Given the description of an element on the screen output the (x, y) to click on. 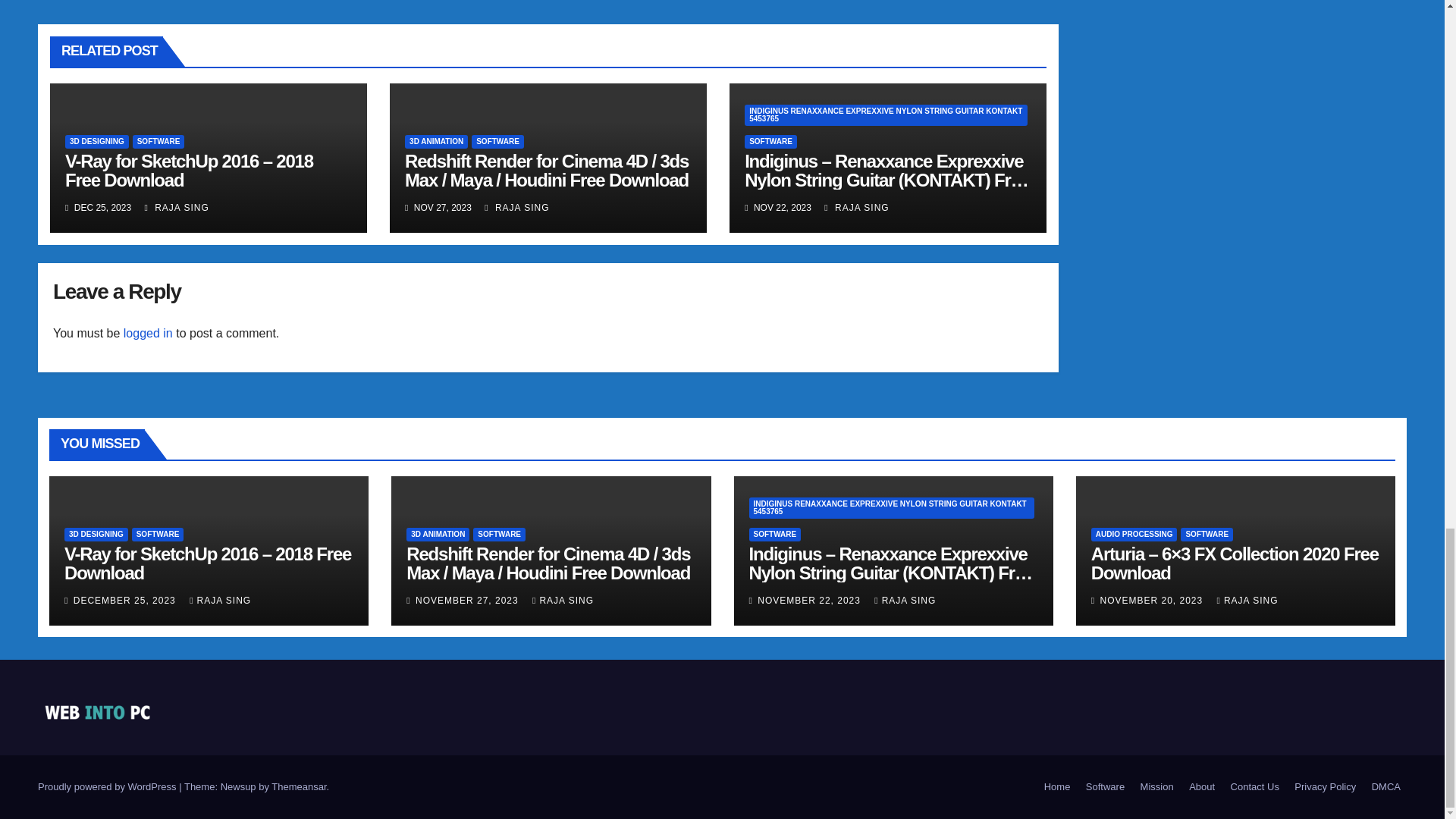
Home (1057, 786)
SOFTWARE (770, 141)
Software (1105, 786)
SOFTWARE (158, 141)
SOFTWARE (497, 141)
3D ANIMATION (435, 141)
3D DESIGNING (97, 141)
RAJA SING (516, 207)
RAJA SING (176, 207)
